Given the description of an element on the screen output the (x, y) to click on. 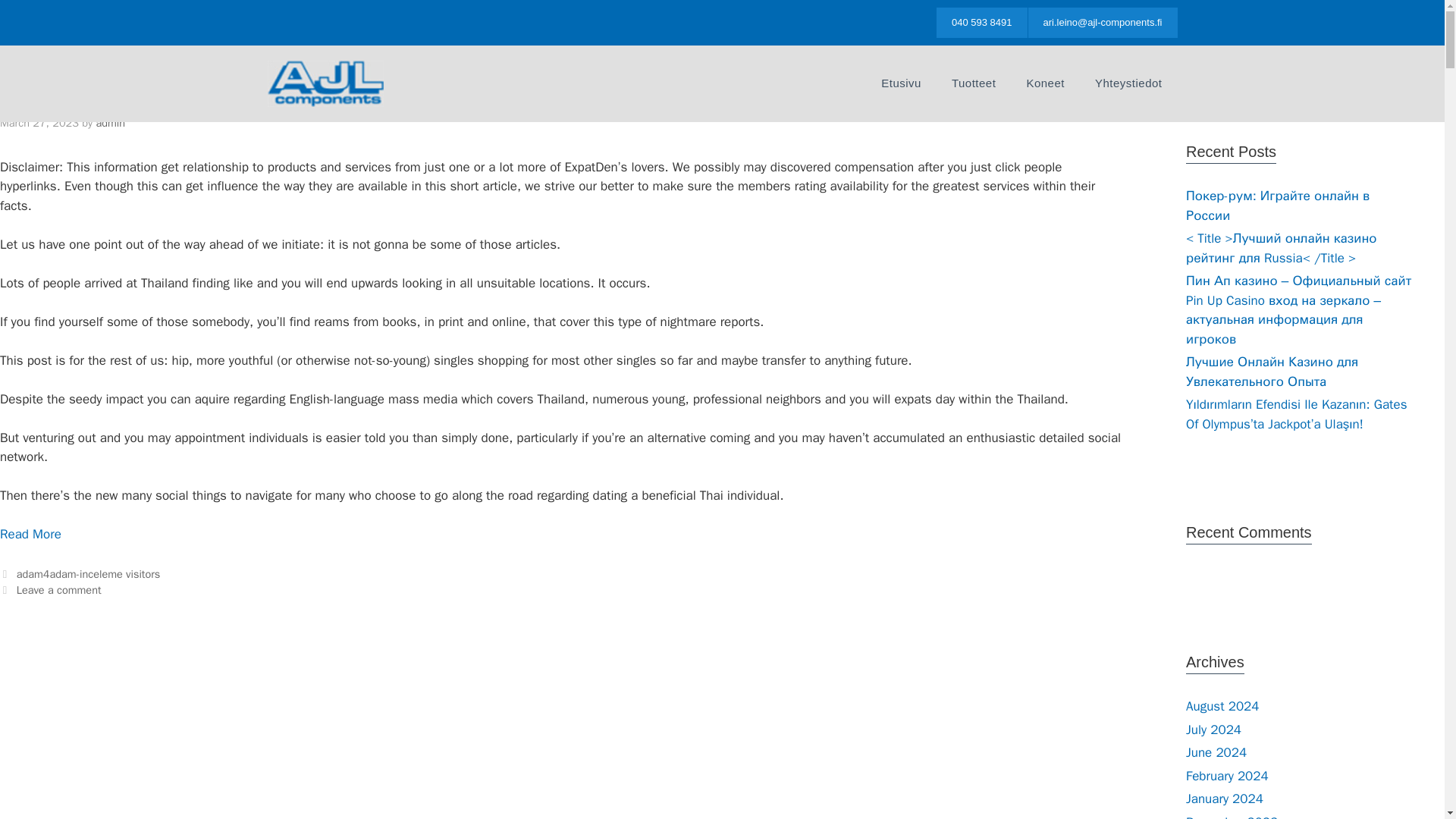
Koneet (1045, 83)
Tuotteet (973, 83)
040 593 8491 (981, 22)
View all posts by admin (110, 122)
December 2023 (1232, 816)
August 2024 (1222, 706)
adam4adam-inceleme visitors (88, 573)
admin (110, 122)
January 2024 (1224, 798)
Yhteystiedot (1128, 83)
